Given the description of an element on the screen output the (x, y) to click on. 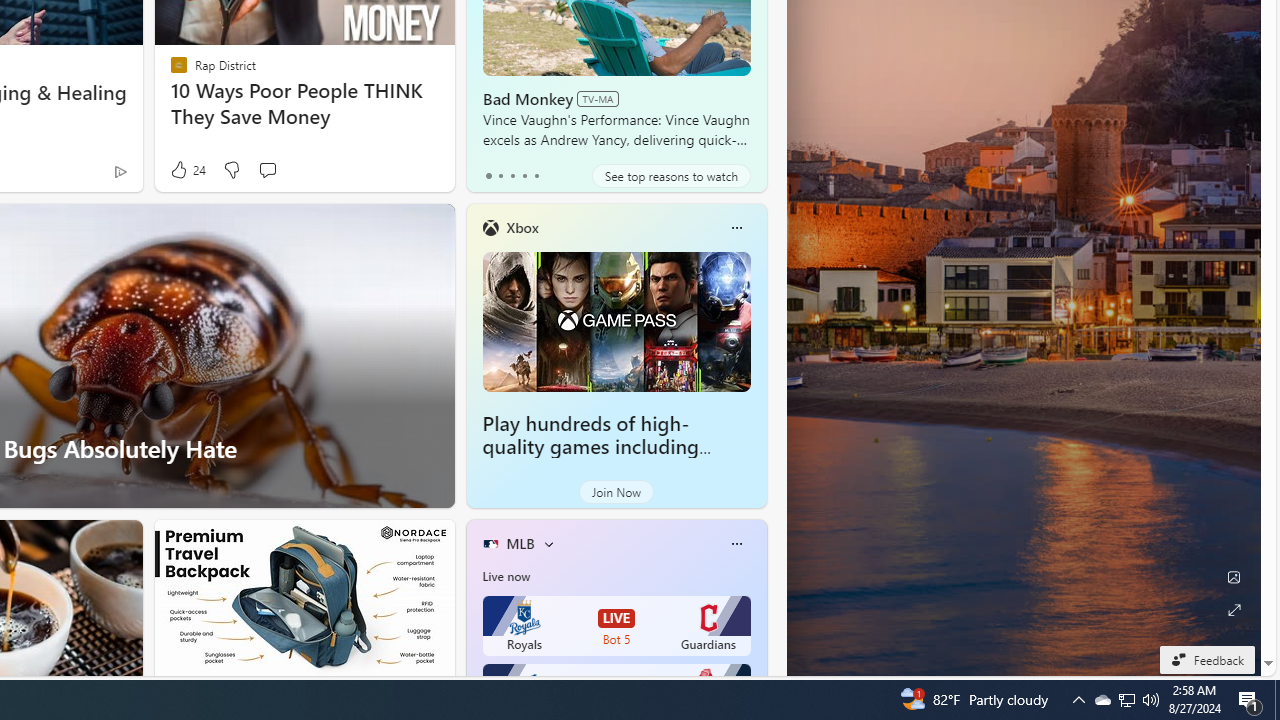
Xbox (521, 227)
Royals LIVE Bot 5 Guardians (616, 625)
Feedback (1206, 659)
See top reasons to watch (671, 175)
Ad Choice (119, 171)
tab-2 (511, 175)
24 Like (186, 170)
Expand background (1233, 610)
Start the conversation (267, 169)
Join Now (616, 491)
Edit Background (1233, 577)
Start the conversation (267, 170)
